Given the description of an element on the screen output the (x, y) to click on. 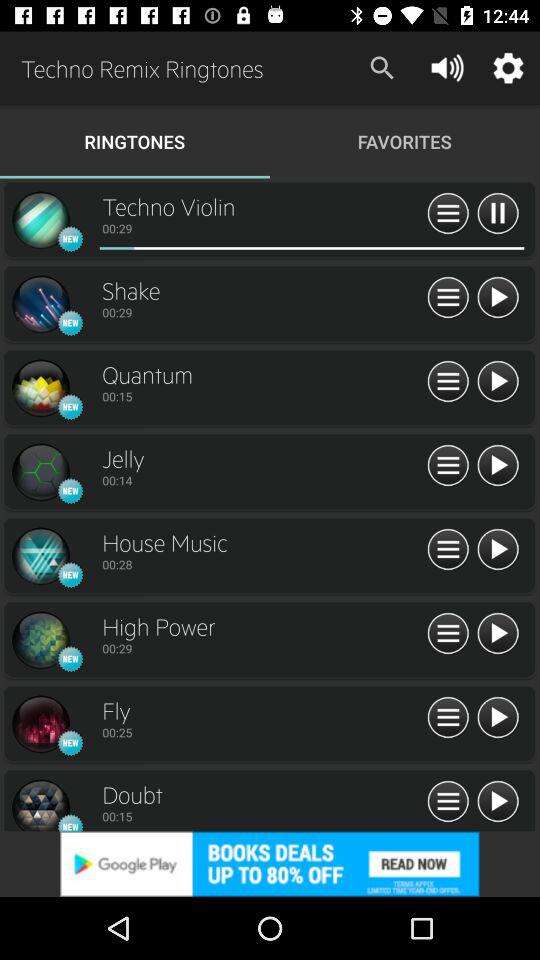
click on advertisement (270, 864)
